Given the description of an element on the screen output the (x, y) to click on. 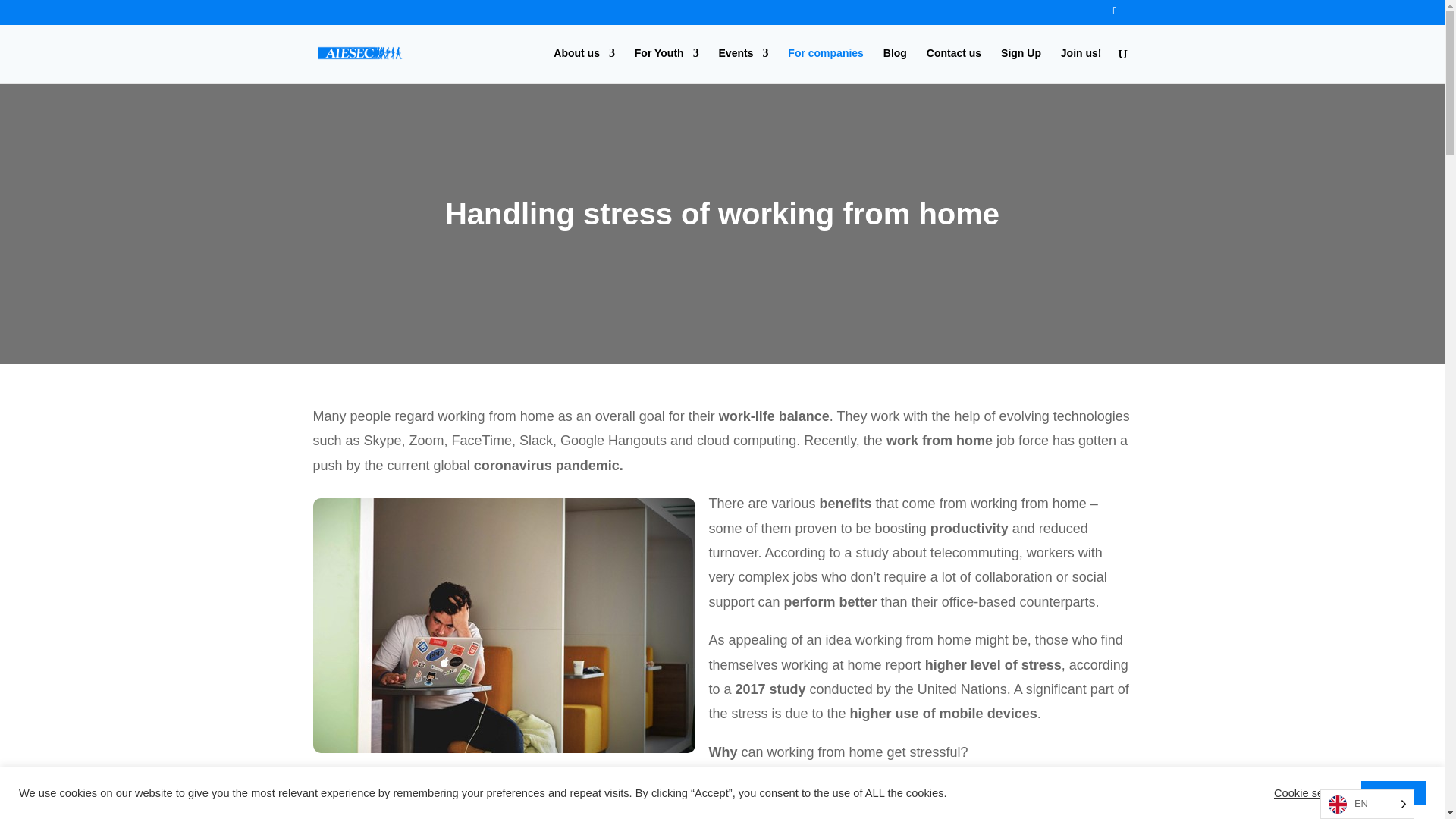
For Youth (666, 65)
About us (583, 65)
Events (743, 65)
Contact us (953, 65)
Sign Up (1021, 65)
Join us! (1081, 65)
For companies (825, 65)
